Given the description of an element on the screen output the (x, y) to click on. 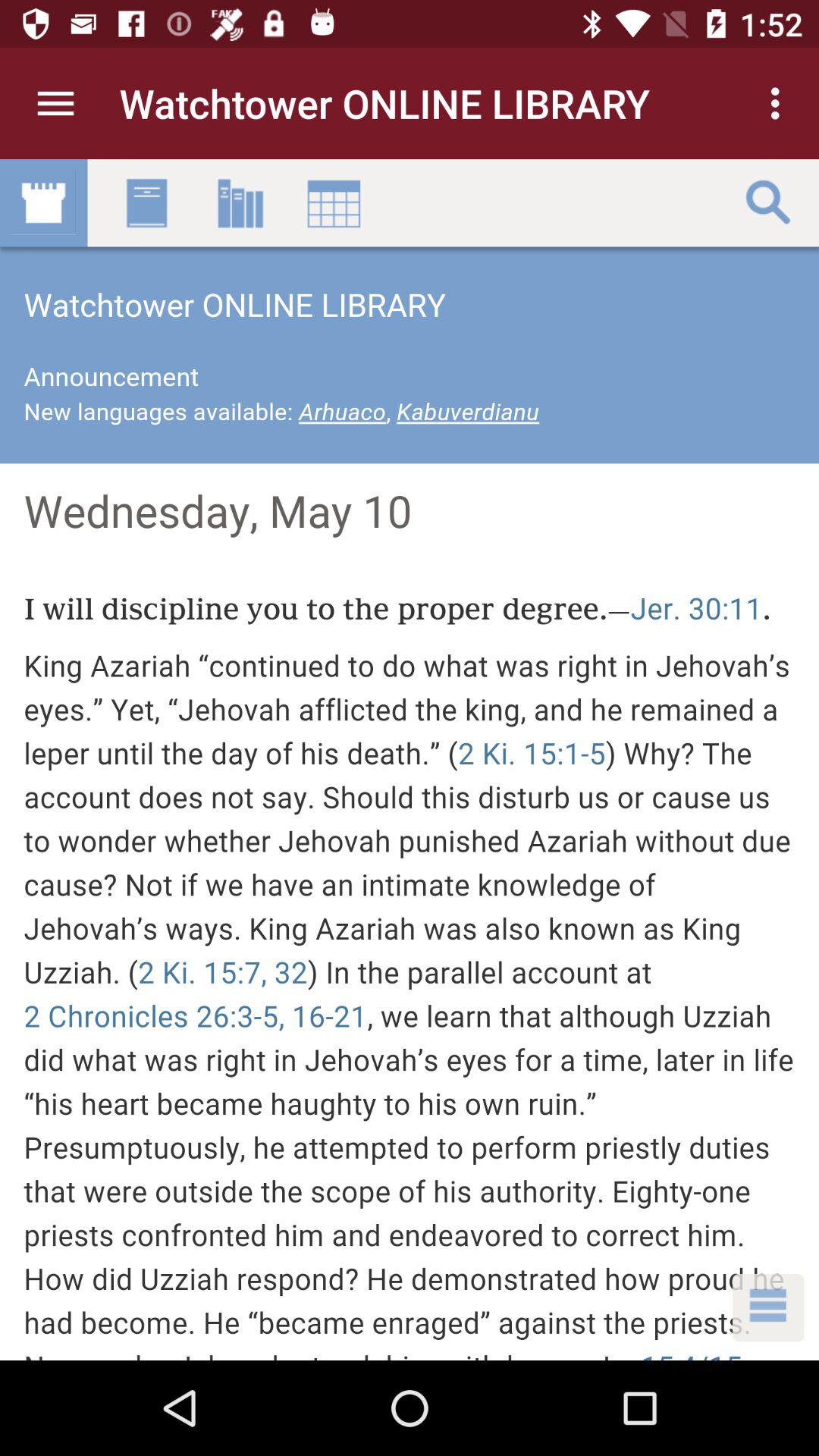
save the article (409, 759)
